Given the description of an element on the screen output the (x, y) to click on. 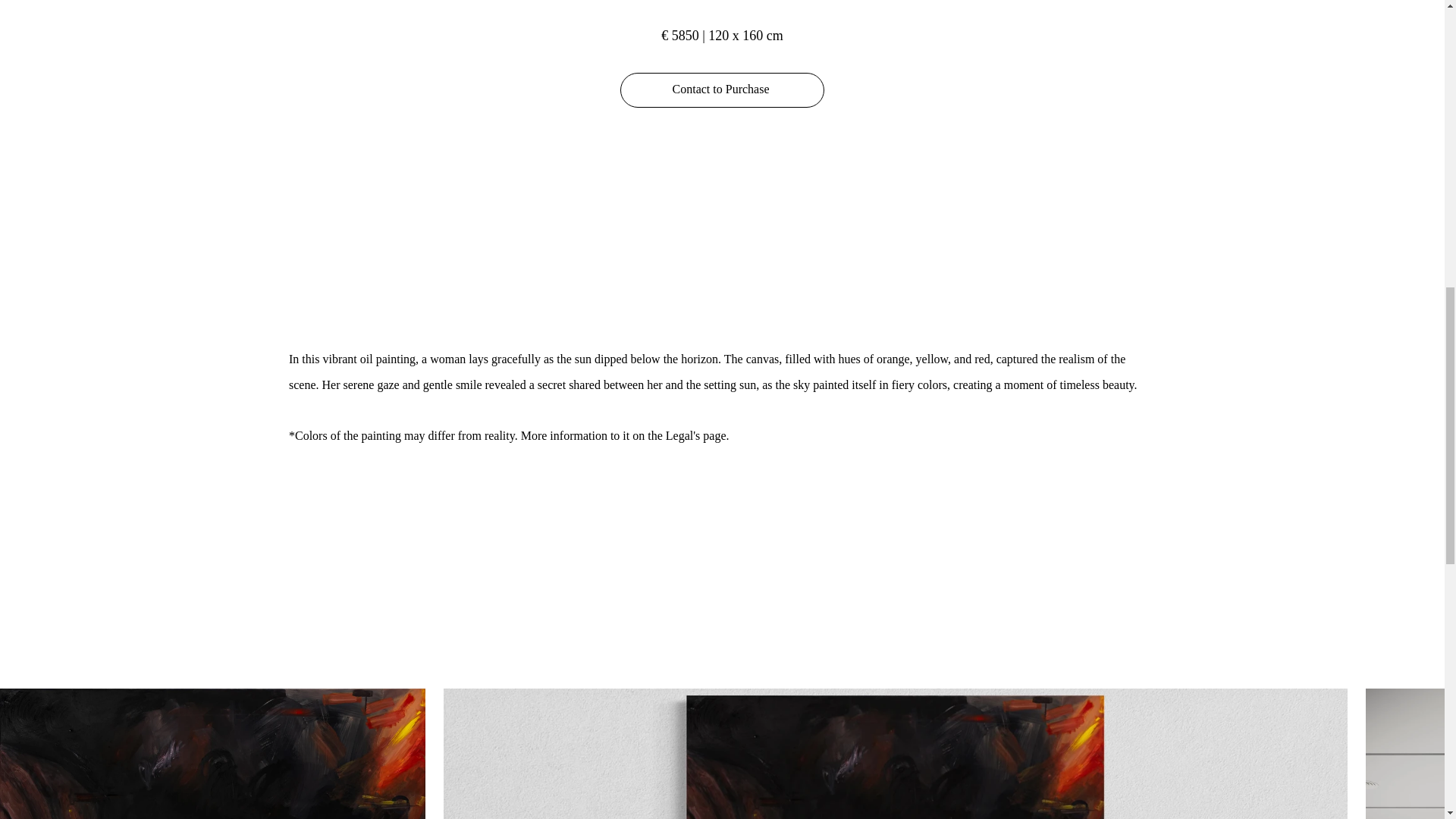
Contact to Purchase (722, 89)
